Given the description of an element on the screen output the (x, y) to click on. 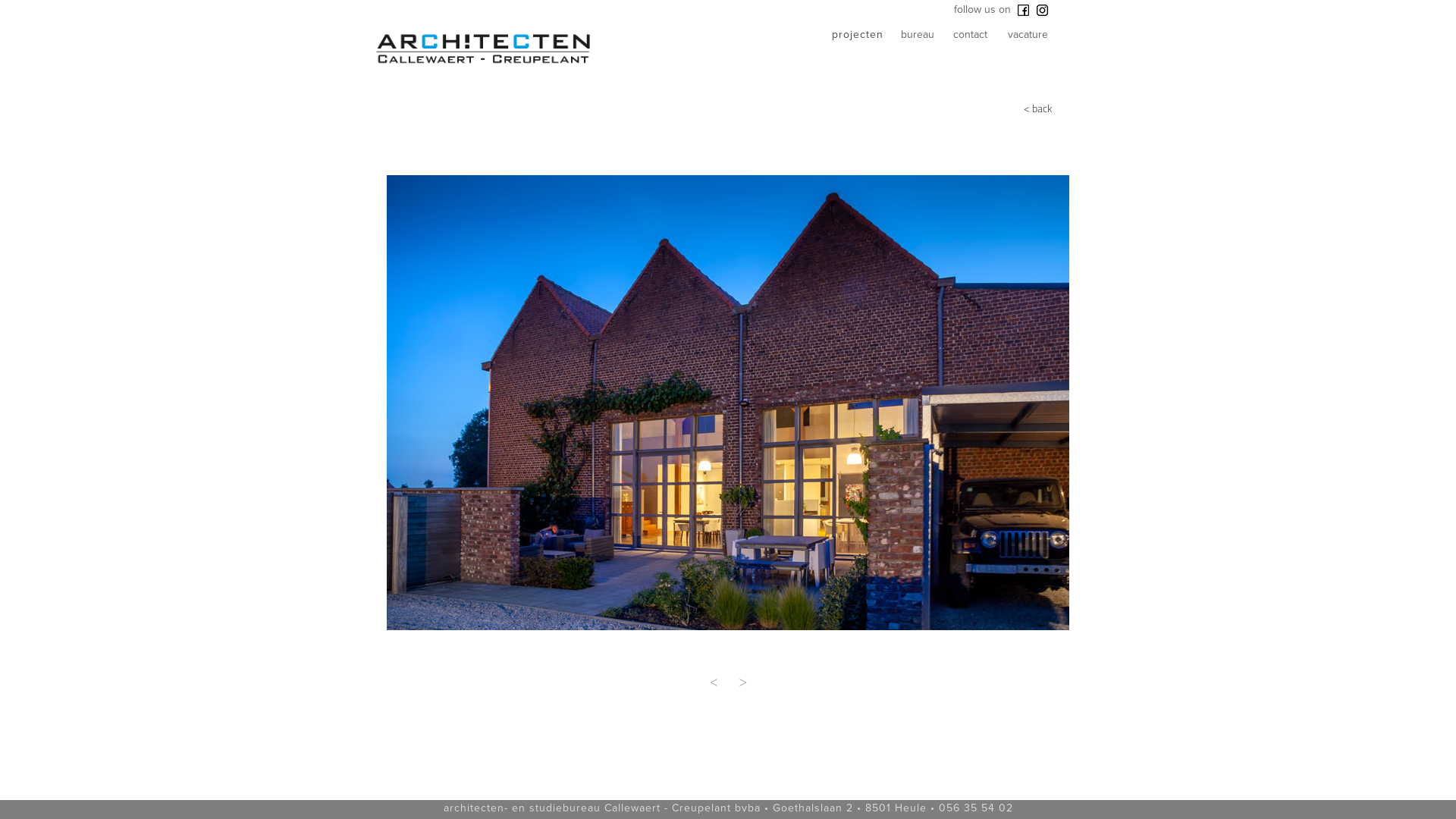
vacature Element type: text (1034, 38)
contact Element type: text (981, 38)
< back Element type: text (1023, 111)
projecten Element type: text (861, 38)
bureau Element type: text (923, 38)
